Given the description of an element on the screen output the (x, y) to click on. 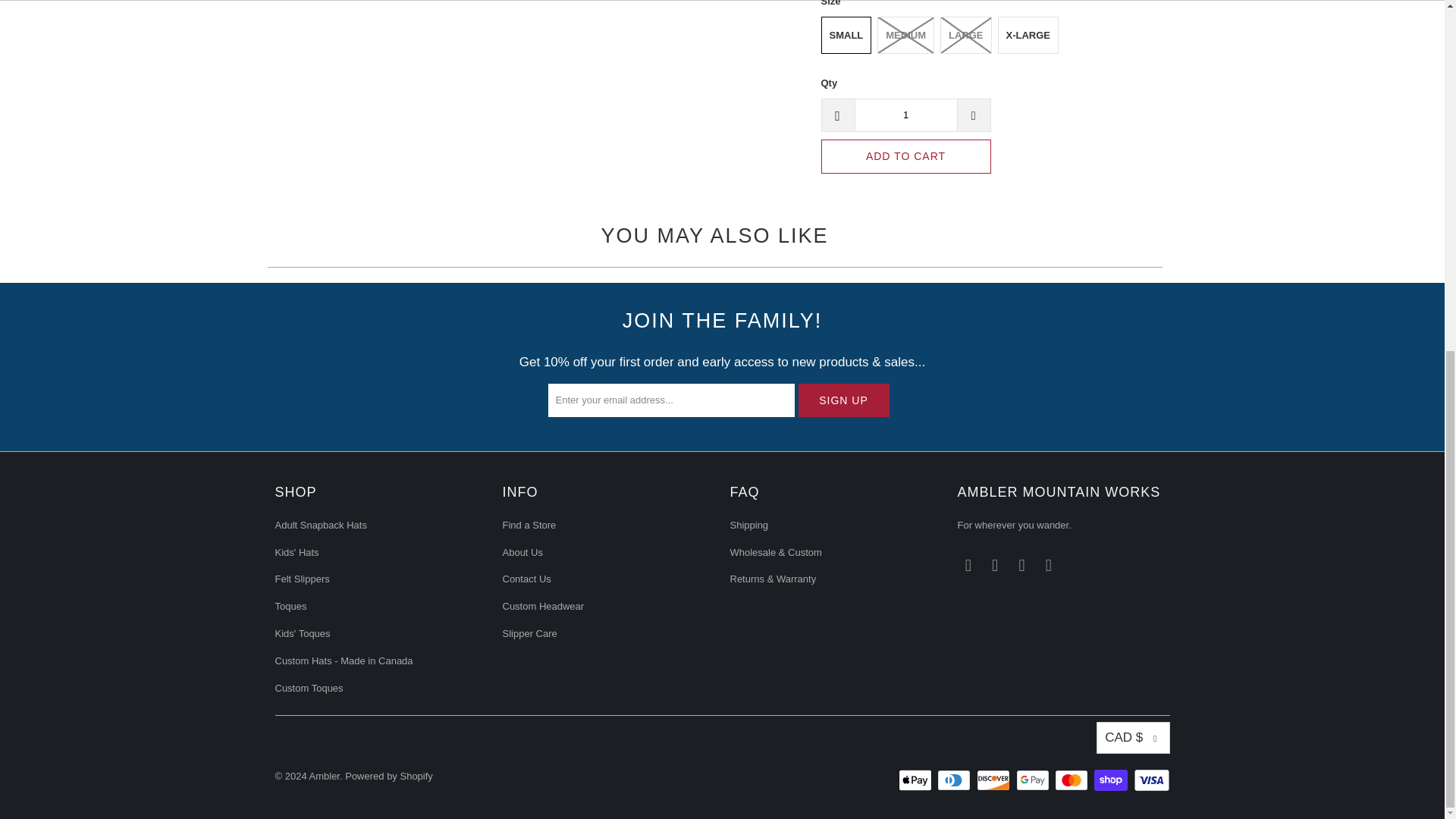
Diners Club (955, 780)
Ambler  on Facebook (967, 565)
Google Pay (1034, 780)
Discover (994, 780)
Ambler  on Instagram (995, 565)
Shop Pay (1112, 780)
Apple Pay (916, 780)
Visa (1150, 780)
Mastercard (1072, 780)
1 (904, 114)
